Given the description of an element on the screen output the (x, y) to click on. 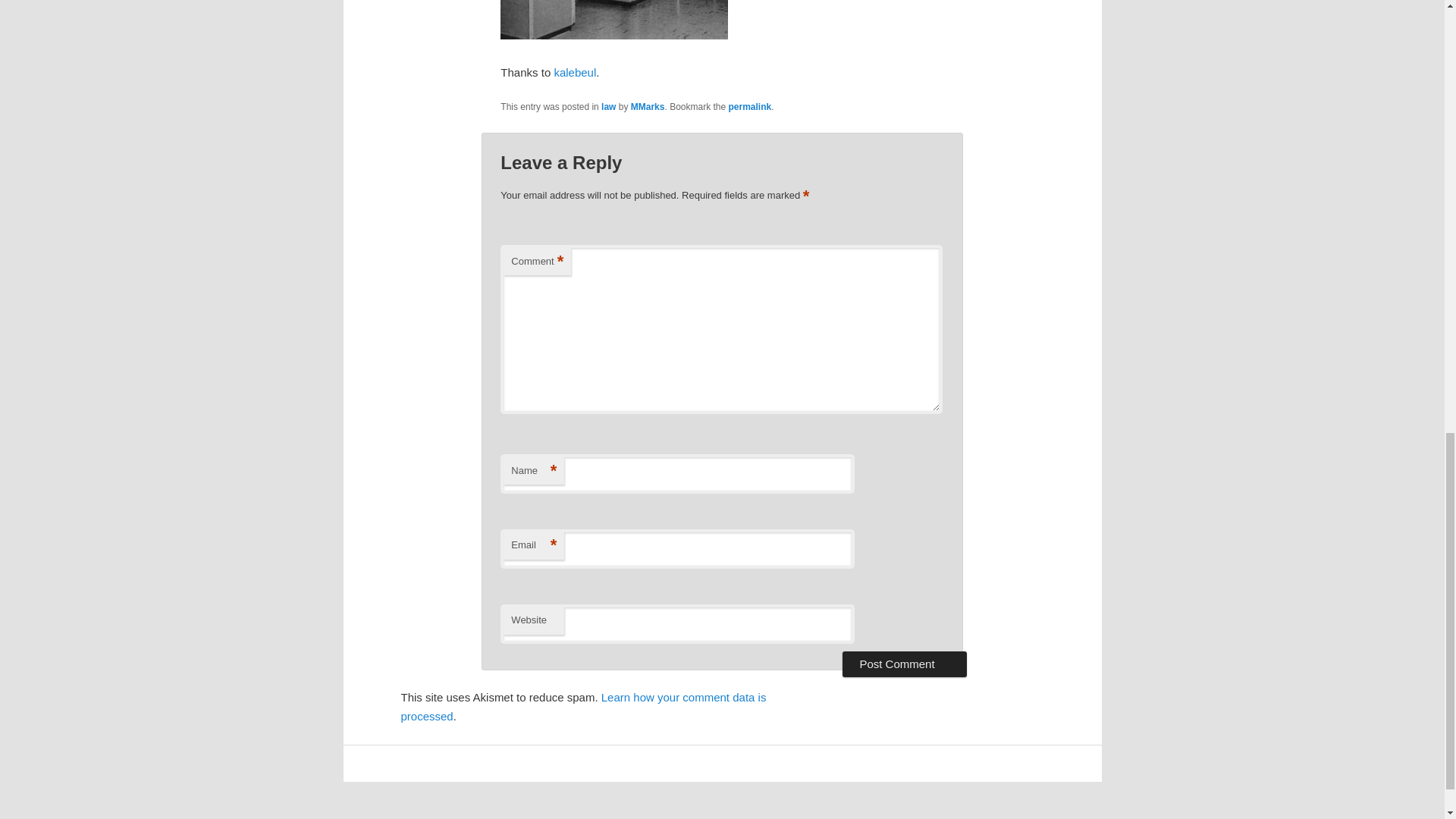
kalebeul (574, 72)
Post Comment (904, 664)
permalink (750, 106)
MMarks (647, 106)
Post Comment (904, 664)
Learn how your comment data is processed (582, 706)
law (608, 106)
